Given the description of an element on the screen output the (x, y) to click on. 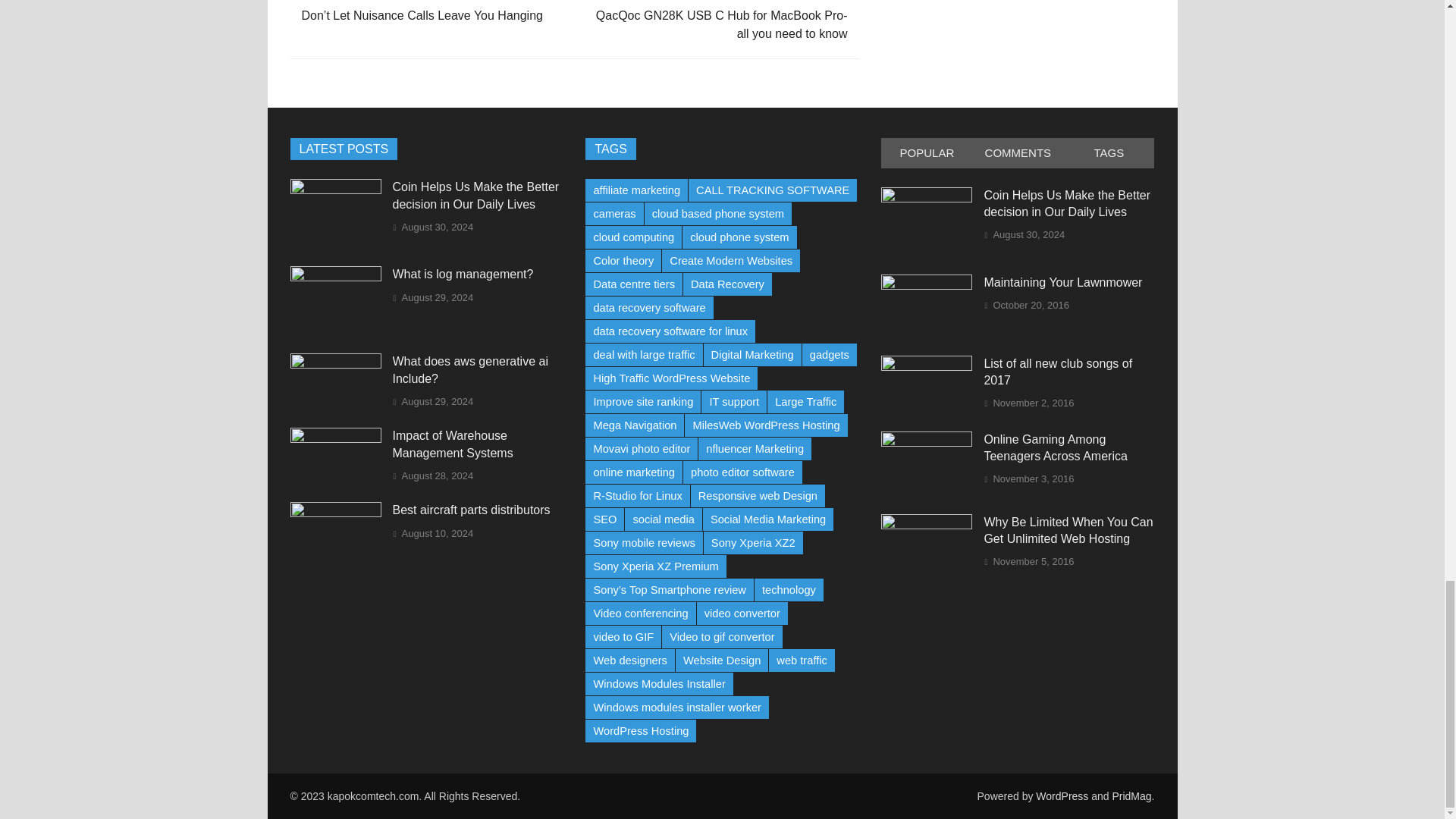
List of all new club songs of 2017 (926, 366)
Maintaining Your Lawnmower (926, 285)
Why Be Limited When You Can Get Unlimited Web Hosting (926, 524)
Online Gaming Among Teenagers Across America (926, 441)
Impact of Warehouse Management Systems (334, 438)
